Given the description of an element on the screen output the (x, y) to click on. 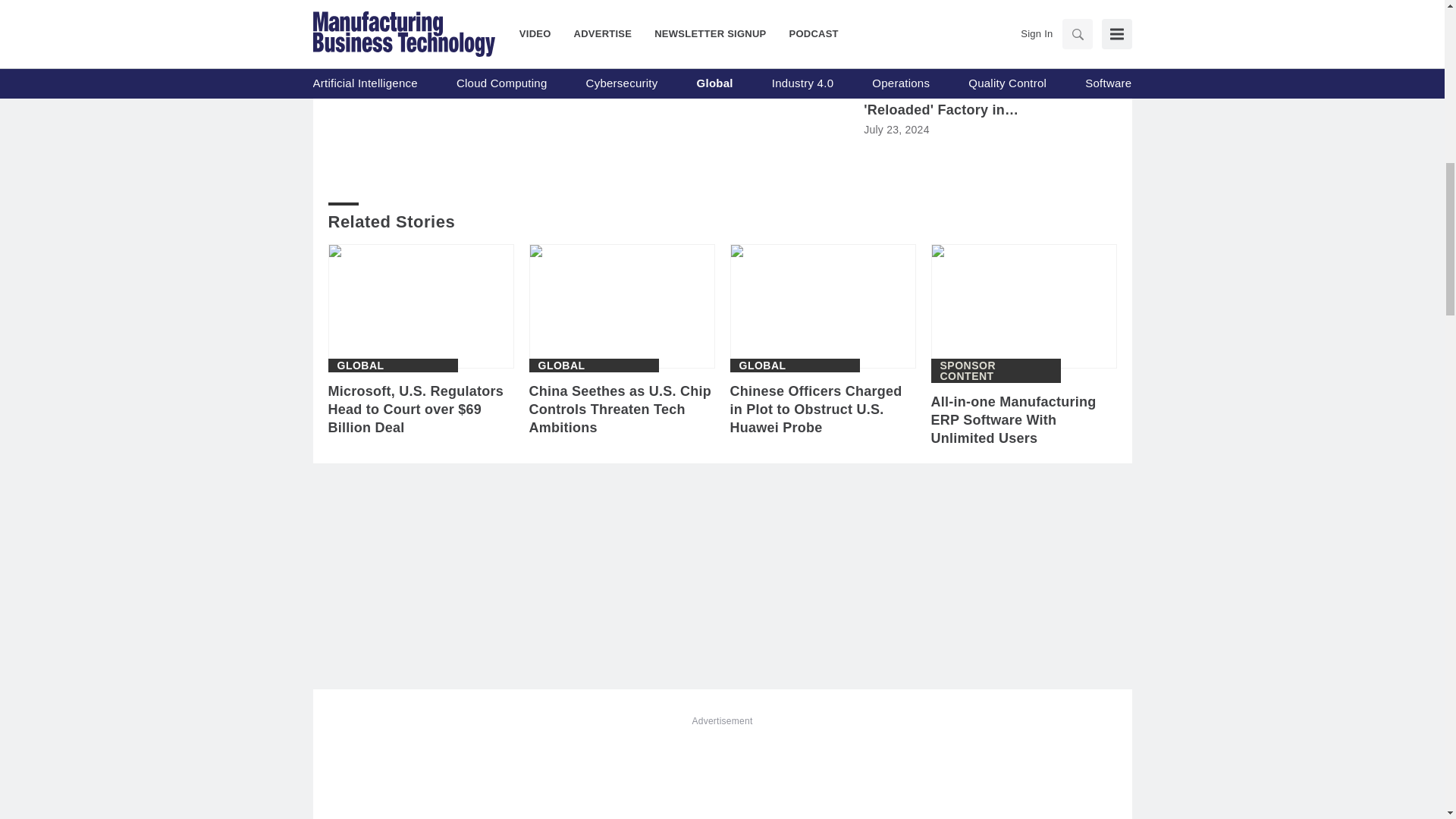
Global (360, 365)
Global (561, 365)
Global (762, 365)
Sponsor Content (996, 370)
